Given the description of an element on the screen output the (x, y) to click on. 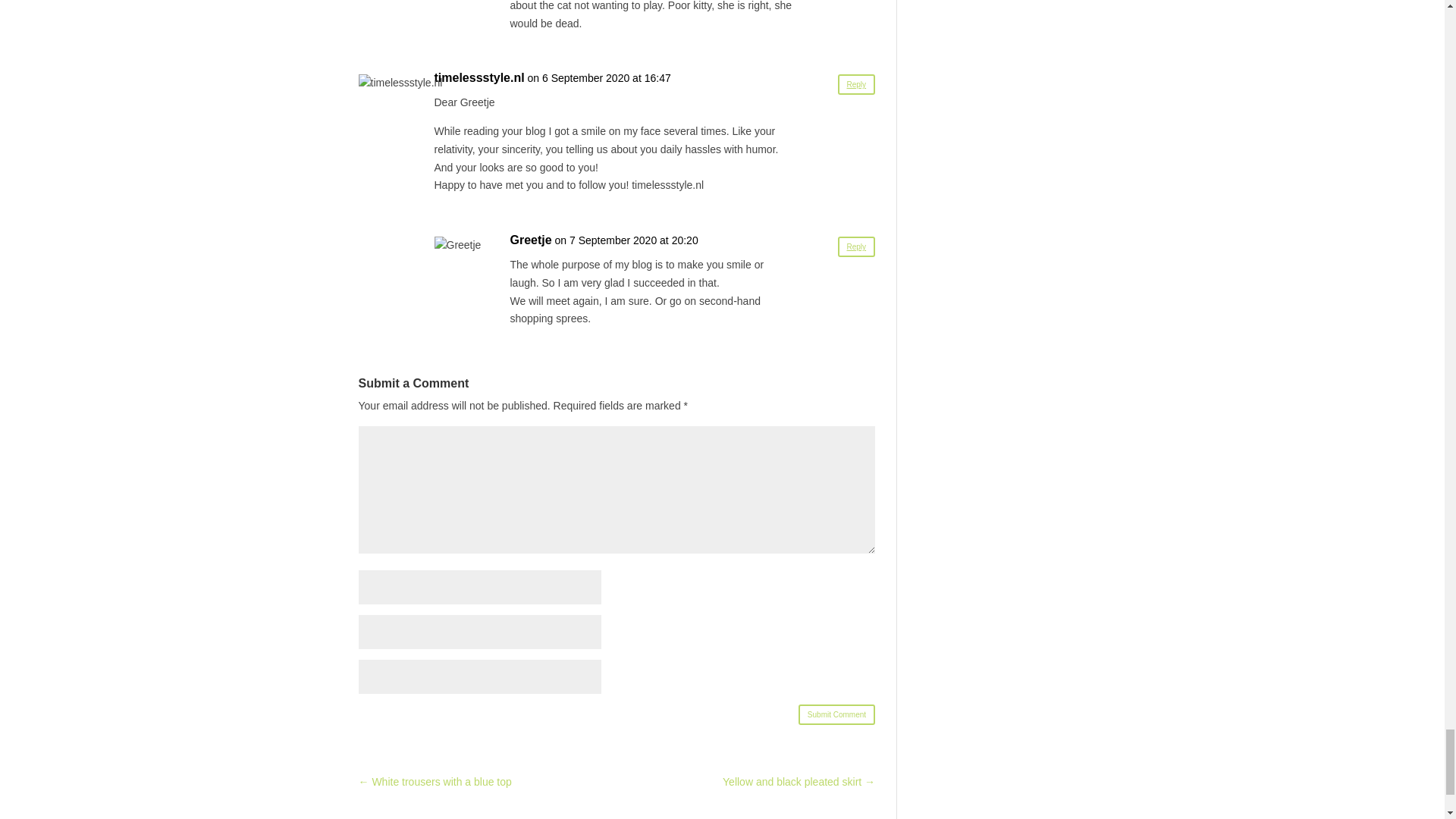
Submit Comment (836, 714)
